Given the description of an element on the screen output the (x, y) to click on. 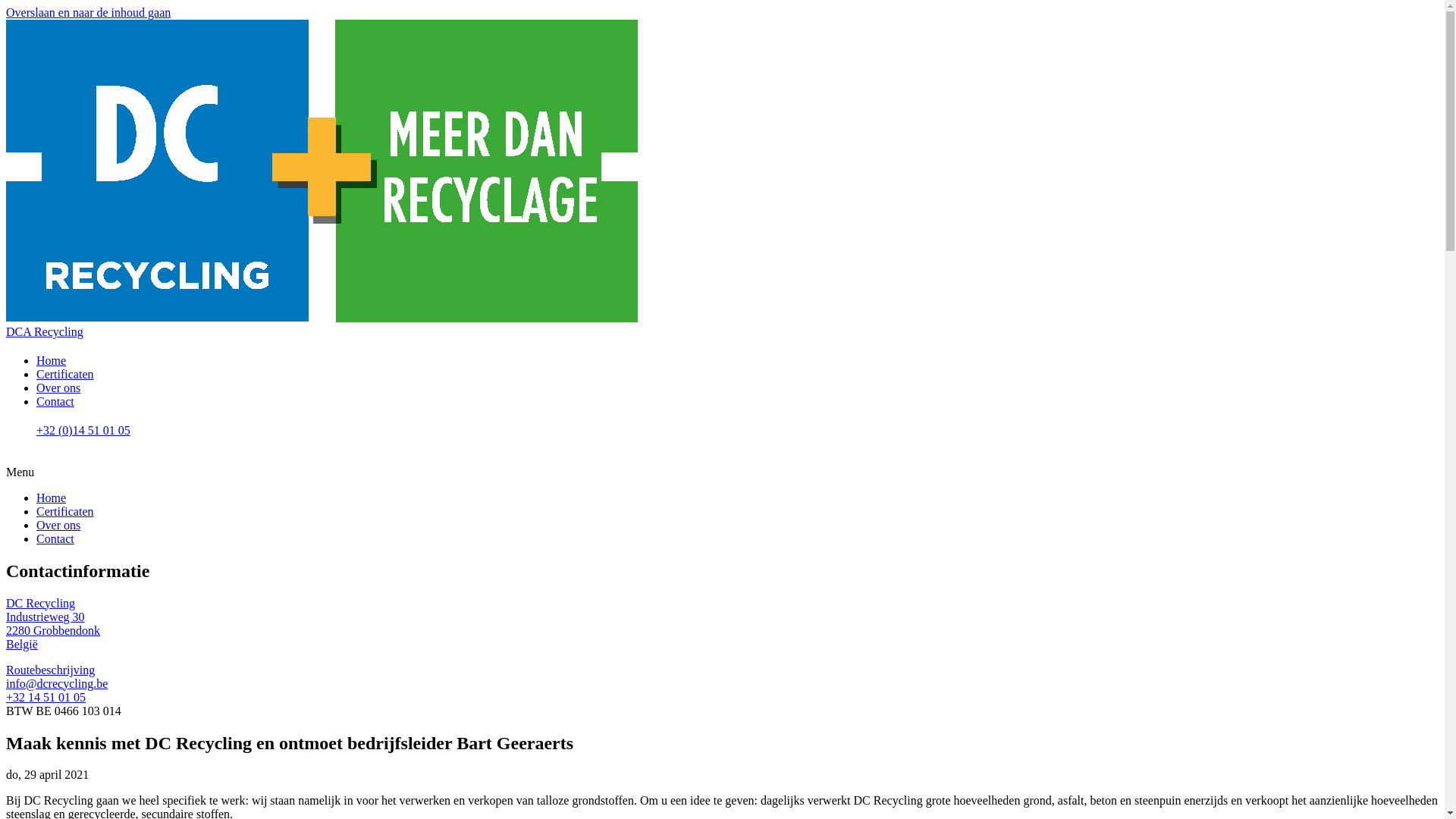
Home Element type: text (50, 497)
Over ons Element type: text (58, 524)
Contact Element type: text (55, 401)
DCA Recycling Element type: text (44, 331)
+32 14 51 01 05 Element type: text (45, 696)
Overslaan en naar de inhoud gaan Element type: text (88, 12)
Certificaten Element type: text (65, 511)
Contact Element type: text (55, 538)
info@dcrecycling.be Element type: text (56, 683)
Certificaten Element type: text (65, 373)
Home Element type: text (50, 360)
+32 (0)14 51 01 05 Element type: text (737, 438)
Over ons Element type: text (58, 387)
